Given the description of an element on the screen output the (x, y) to click on. 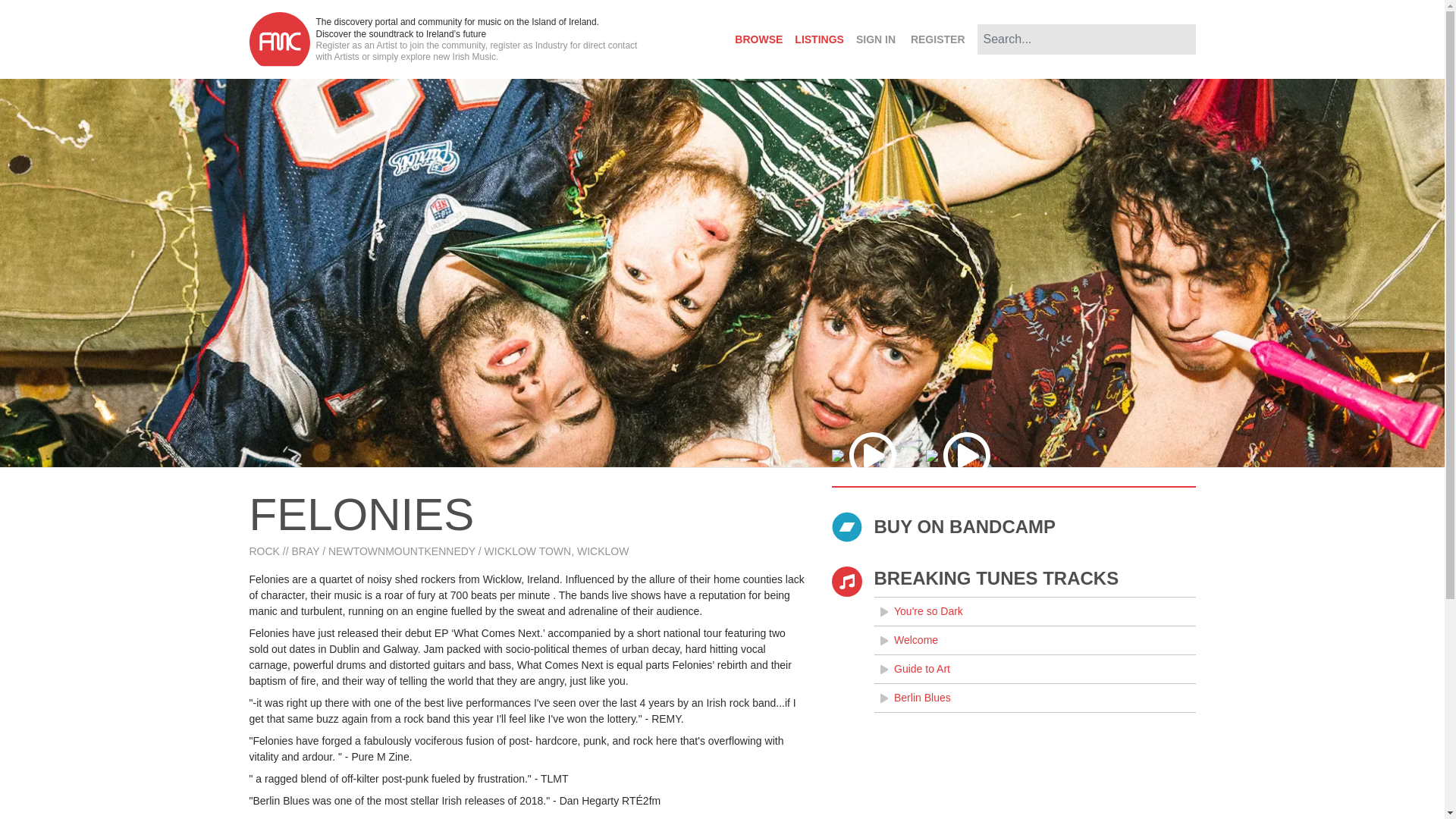
Welcome (1034, 640)
Guide to Art (1034, 669)
REGISTER (937, 39)
Berlin Blues (1034, 697)
BROWSE (759, 39)
BUY ON BANDCAMP (1013, 526)
You're so Dark (1034, 611)
LISTINGS (819, 39)
SIGN IN (875, 39)
